Given the description of an element on the screen output the (x, y) to click on. 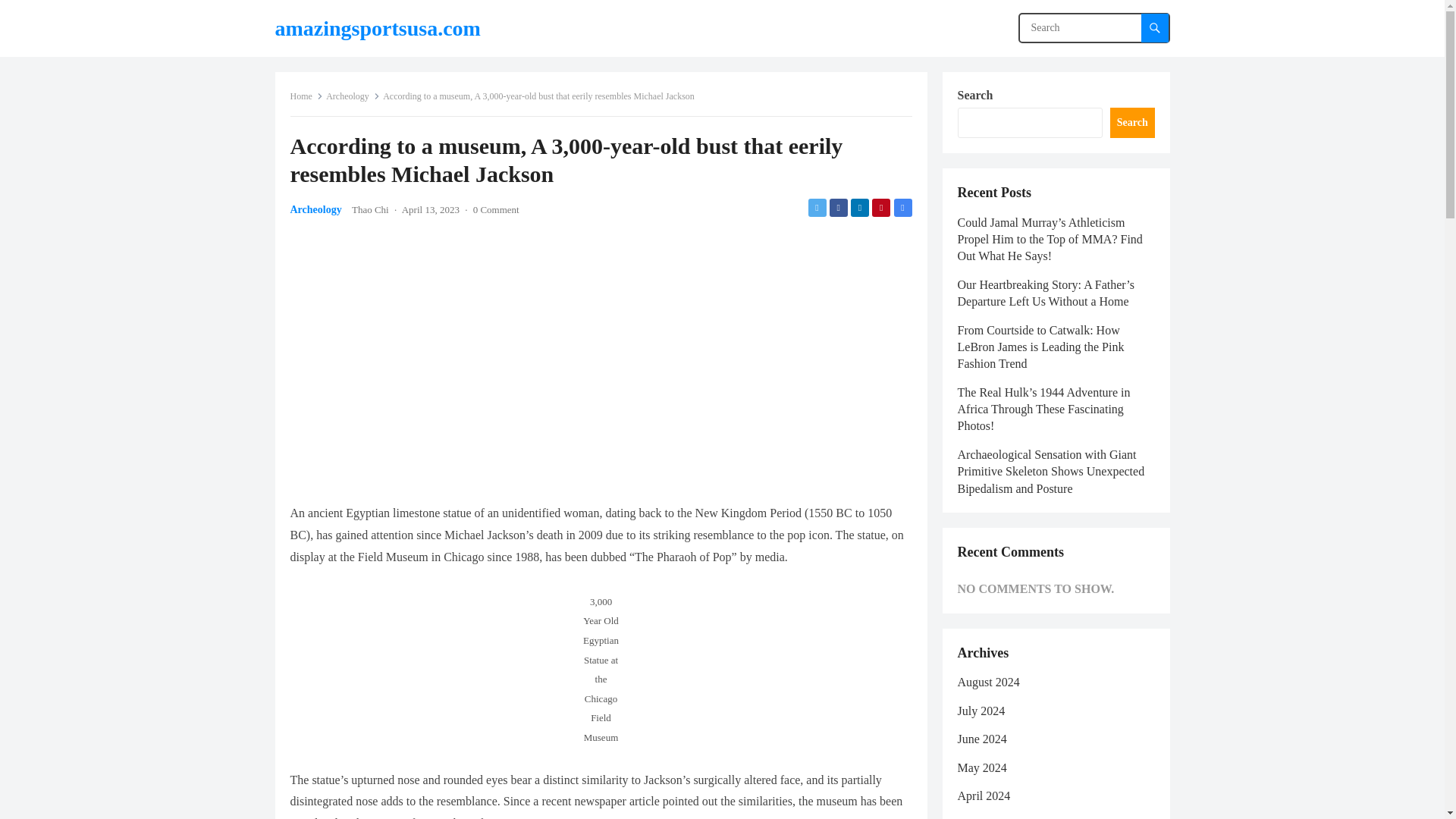
Posts by Thao Chi (370, 209)
amazingsportsusa.com (377, 28)
0 Comment (496, 209)
Thao Chi (370, 209)
Home (305, 95)
Archeology (353, 95)
Archeology (314, 209)
